Given the description of an element on the screen output the (x, y) to click on. 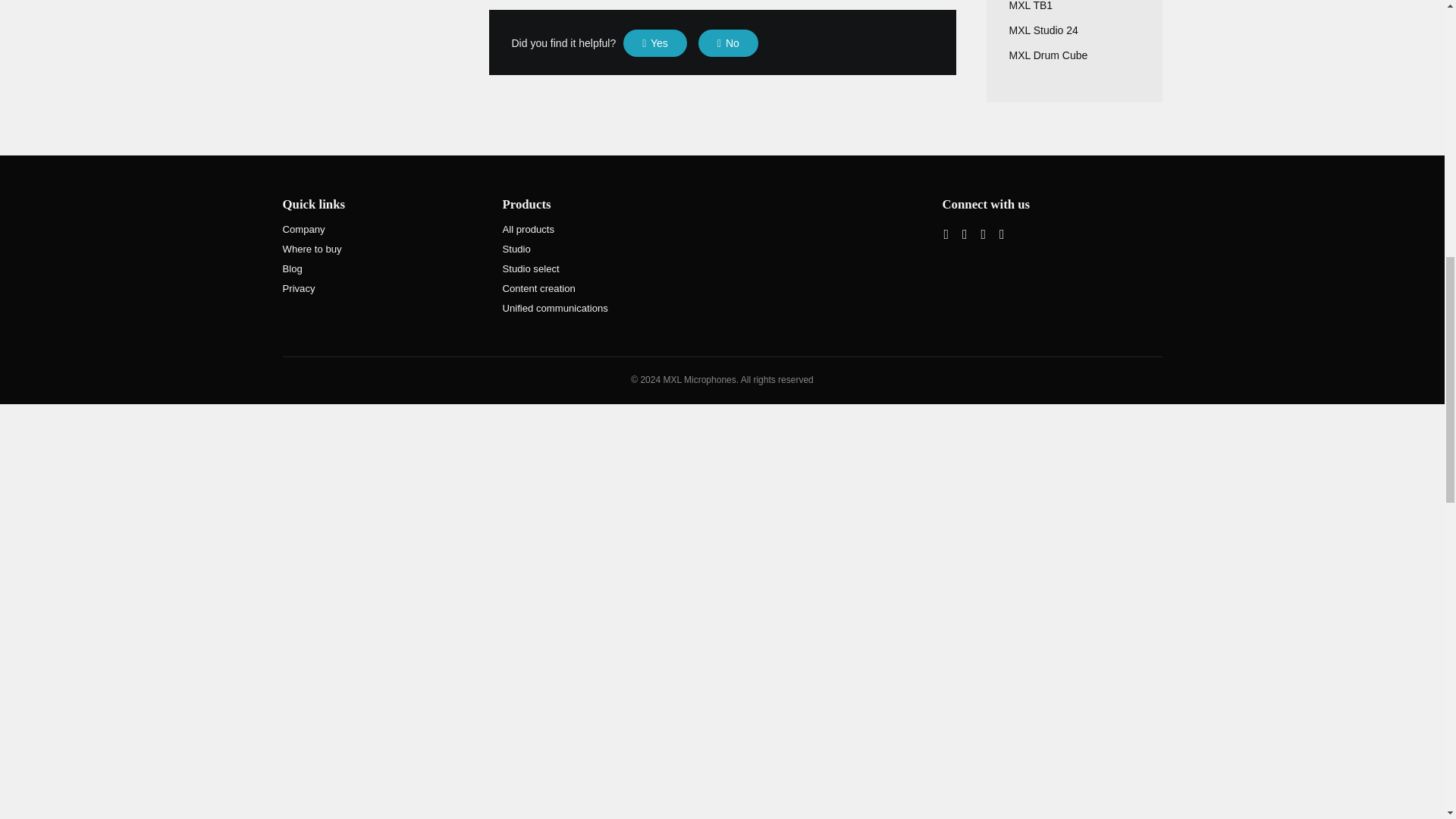
Studio select (530, 268)
Company (303, 229)
Content creation (538, 288)
All products (528, 229)
Studio (515, 248)
Unified communications (554, 307)
Blog (291, 268)
MXL TB1 (1030, 5)
MXL Studio 24 (1043, 30)
MXL Drum Cube (1048, 55)
Where to buy (311, 248)
Privacy (298, 288)
